Given the description of an element on the screen output the (x, y) to click on. 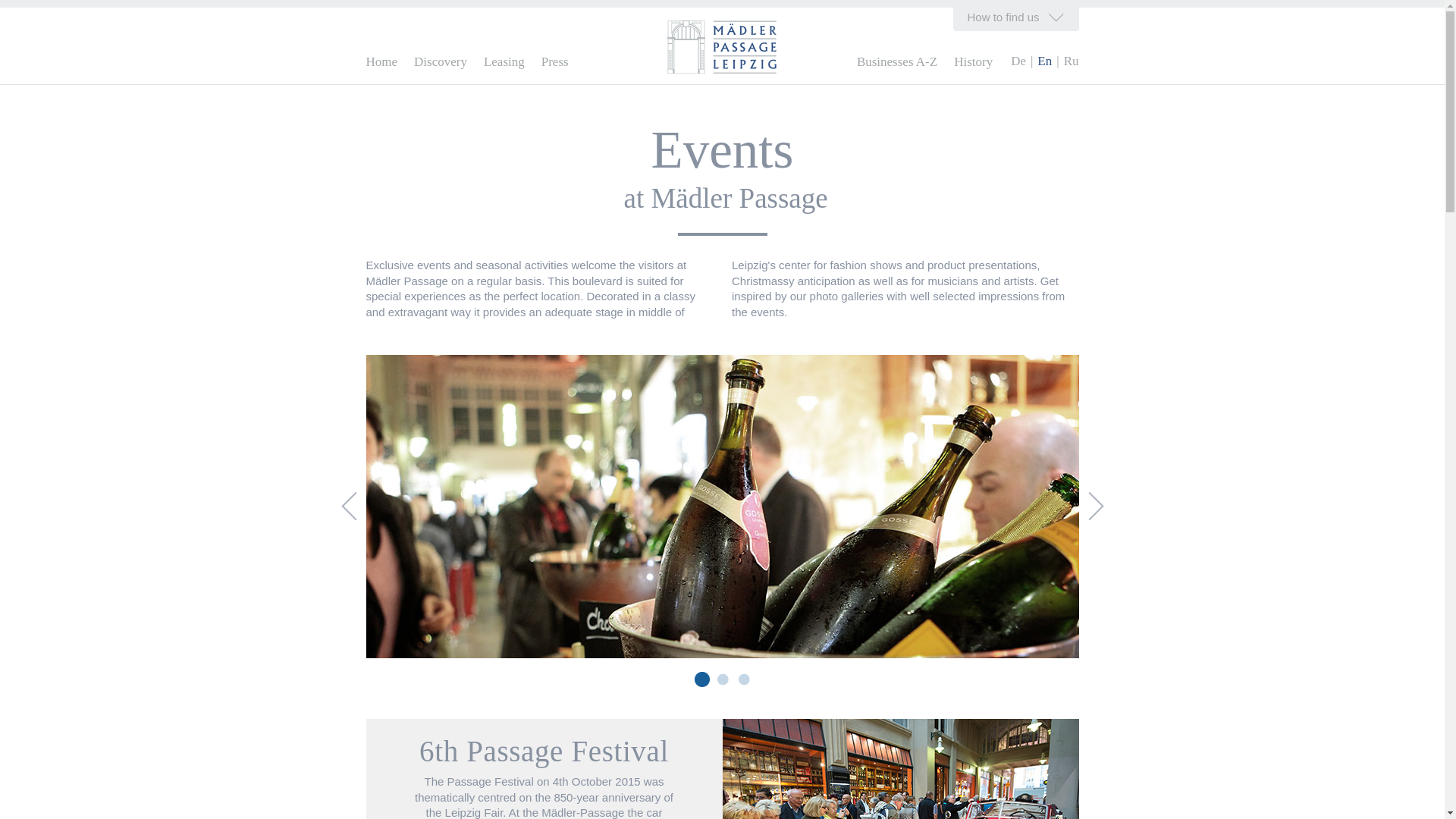
De (1018, 60)
Press (555, 61)
History (972, 61)
Discovery (440, 61)
En (1043, 60)
How to find us (1015, 19)
Home (381, 61)
Ru (1071, 60)
Businesses A-Z (897, 61)
Leasing (503, 61)
